Given the description of an element on the screen output the (x, y) to click on. 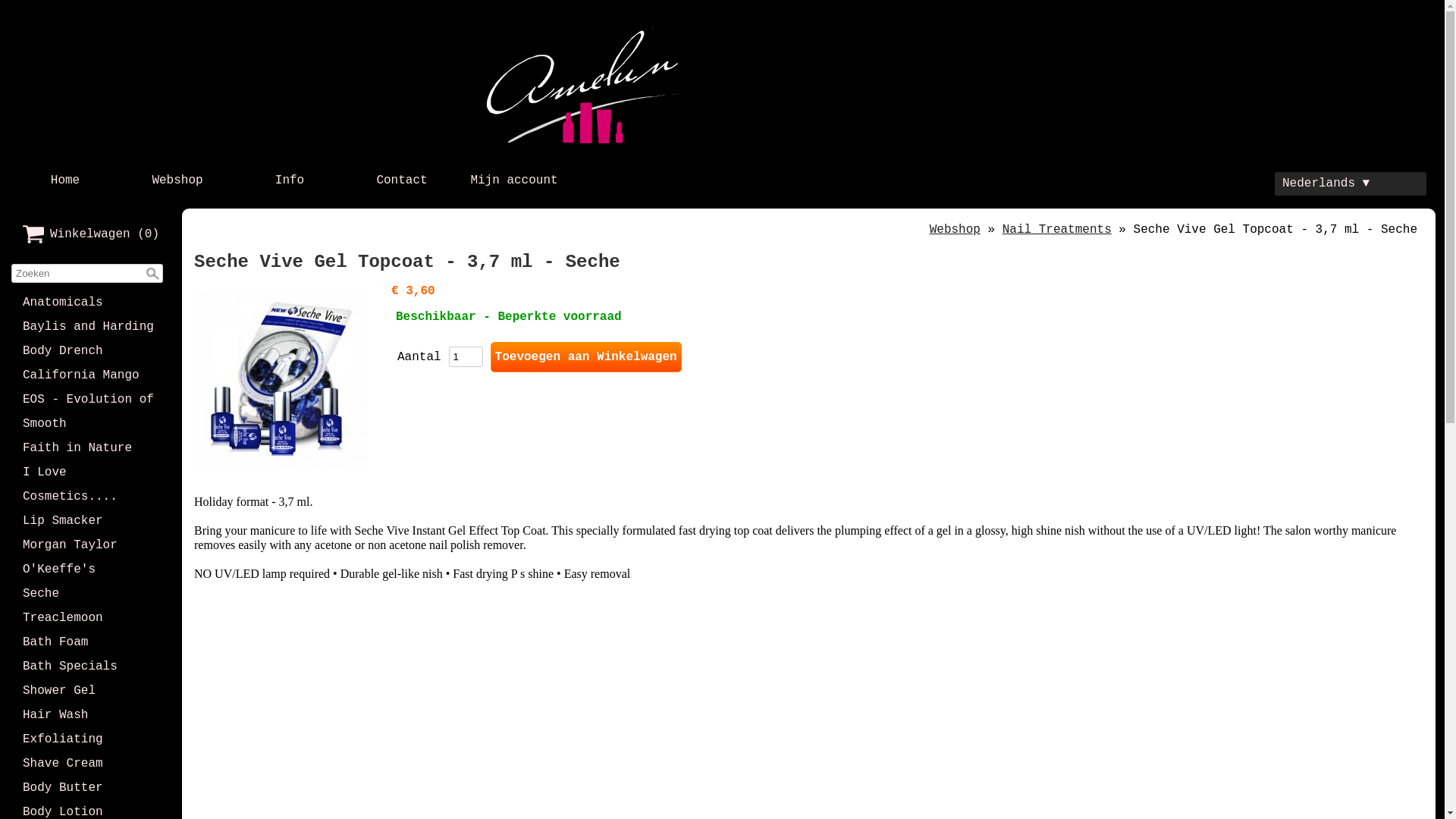
Body Drench Element type: text (90, 350)
Seche Element type: text (90, 593)
Webshop Element type: text (177, 180)
Webshop Element type: text (954, 229)
Lip Smacker Element type: text (90, 520)
O'Keeffe's Element type: text (90, 569)
Mijn account Element type: text (513, 180)
Shave Cream Element type: text (90, 763)
Shower Gel Element type: text (90, 690)
EOS - Evolution of Smooth Element type: text (90, 411)
Baylis and Harding Element type: text (90, 326)
Home Element type: text (64, 180)
Contact Element type: text (401, 180)
Hair Wash Element type: text (90, 714)
I Love Cosmetics.... Element type: text (90, 484)
Nail Treatments Element type: text (1056, 229)
Bath Specials Element type: text (90, 666)
Anatomicals Element type: text (90, 302)
California Mango Element type: text (90, 375)
Info Element type: text (289, 180)
Exfoliating Element type: text (90, 739)
Faith in Nature Element type: text (90, 448)
Toevoegen aan Winkelwagen Element type: text (585, 357)
Treaclemoon Element type: text (90, 617)
Bath Foam Element type: text (90, 642)
WinkelwagenWinkelwagen (0) Element type: text (90, 233)
Body Butter Element type: text (90, 787)
Morgan Taylor Element type: text (90, 545)
